Given the description of an element on the screen output the (x, y) to click on. 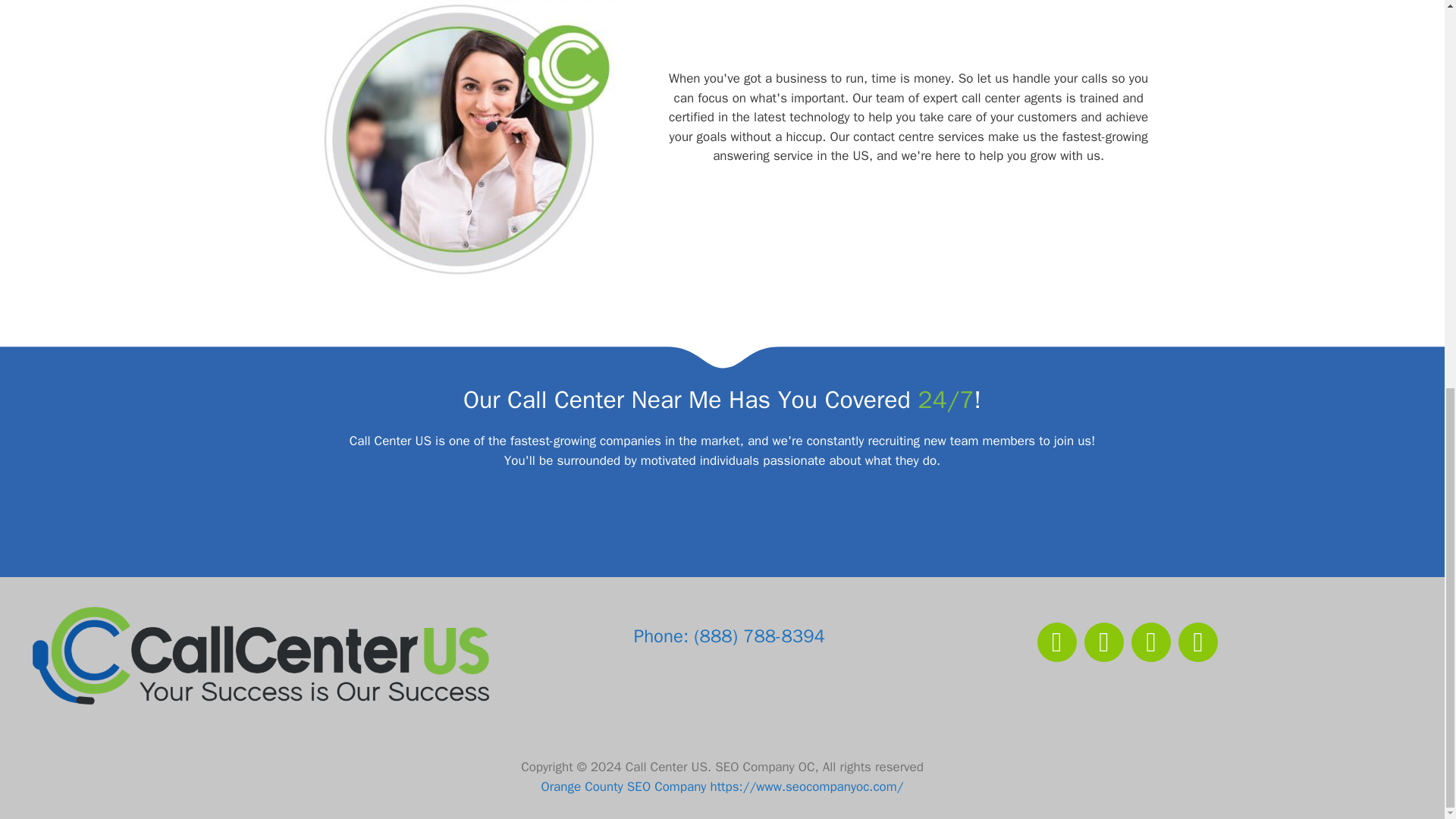
Call Center US (260, 655)
Contact Centre Services (464, 142)
